Given the description of an element on the screen output the (x, y) to click on. 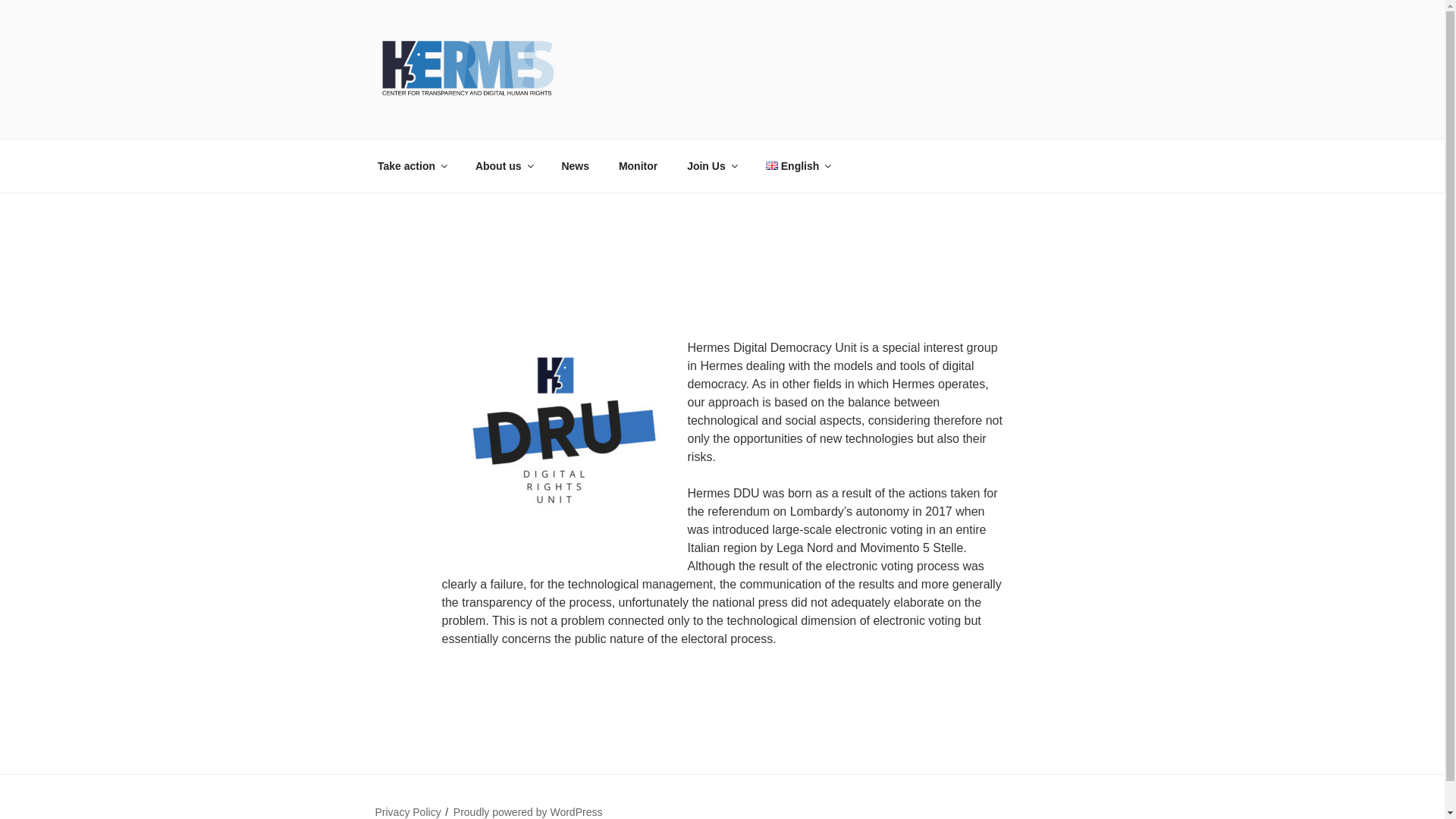
Proudly powered by WordPress (527, 811)
Monitor (637, 165)
English (797, 165)
About us (502, 165)
HERMES CENTER (510, 119)
Privacy Policy (407, 811)
News (575, 165)
Take action (411, 165)
Join Us (711, 165)
